Given the description of an element on the screen output the (x, y) to click on. 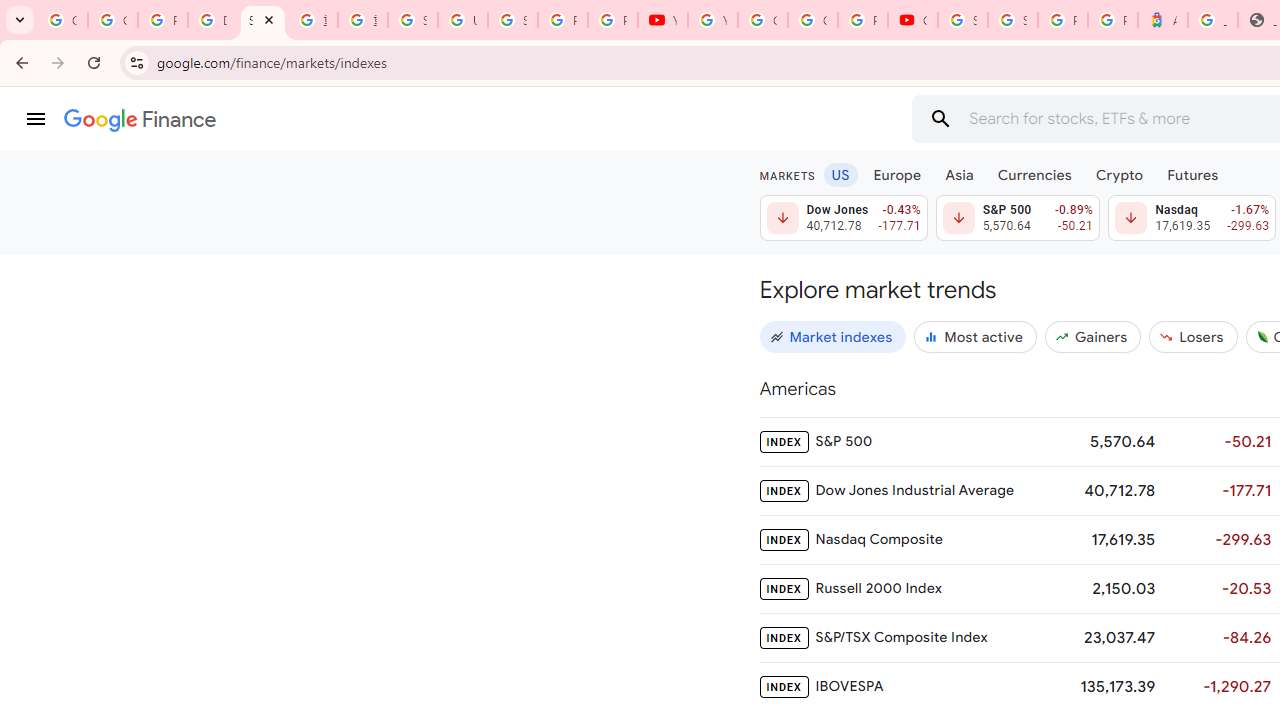
Create your Google Account (813, 20)
Europe (897, 174)
Content Creator Programs & Opportunities - YouTube Creators (913, 20)
Sign in - Google Accounts (412, 20)
Gainers (1092, 336)
Sign in - Google Accounts (512, 20)
Futures (1192, 174)
Crypto (1119, 174)
Google Workspace Admin Community (62, 20)
Losers (1193, 336)
